Given the description of an element on the screen output the (x, y) to click on. 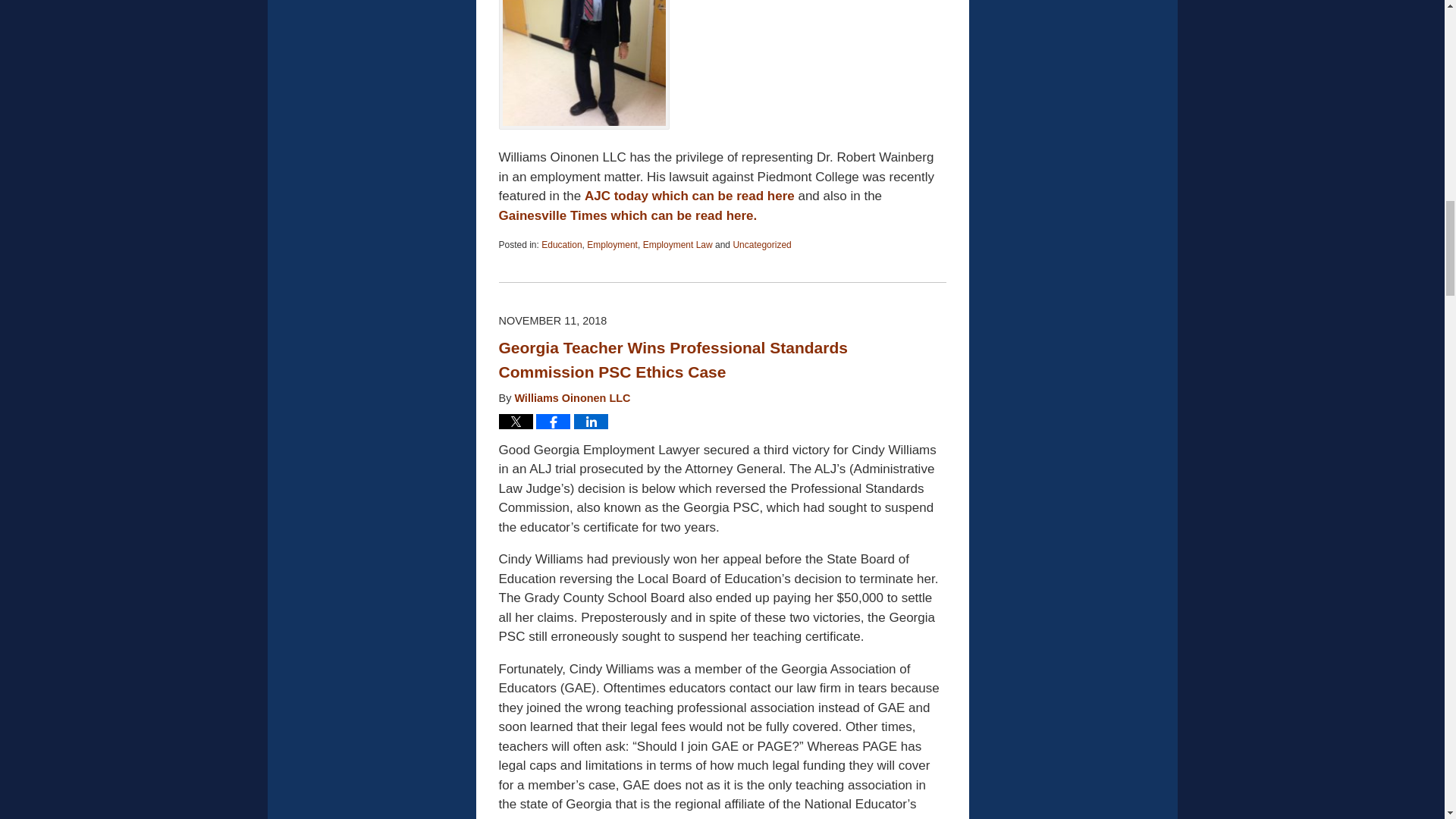
View all posts in Education (560, 244)
View all posts in Employment Law (678, 244)
View all posts in Employment (611, 244)
View all posts in Uncategorized (761, 244)
